Given the description of an element on the screen output the (x, y) to click on. 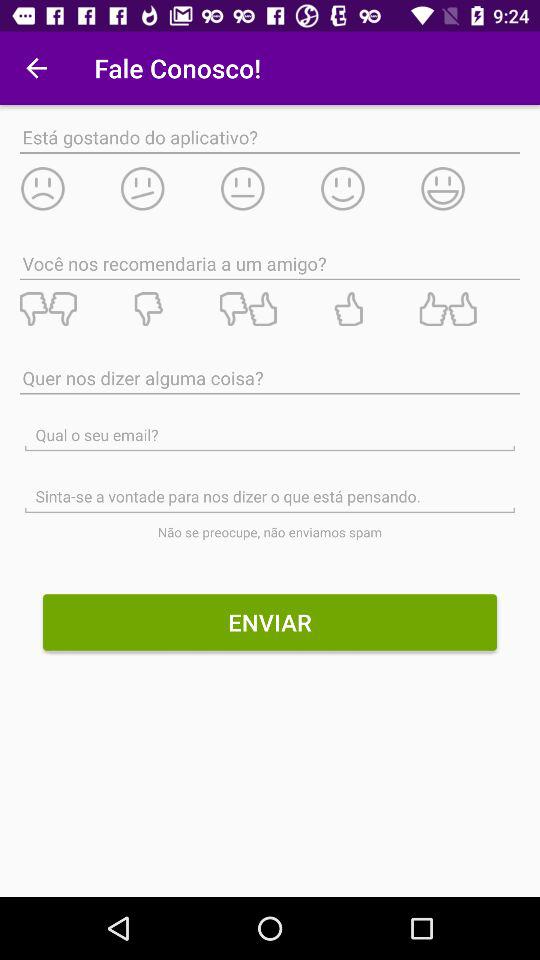
definite yes (469, 309)
